Given the description of an element on the screen output the (x, y) to click on. 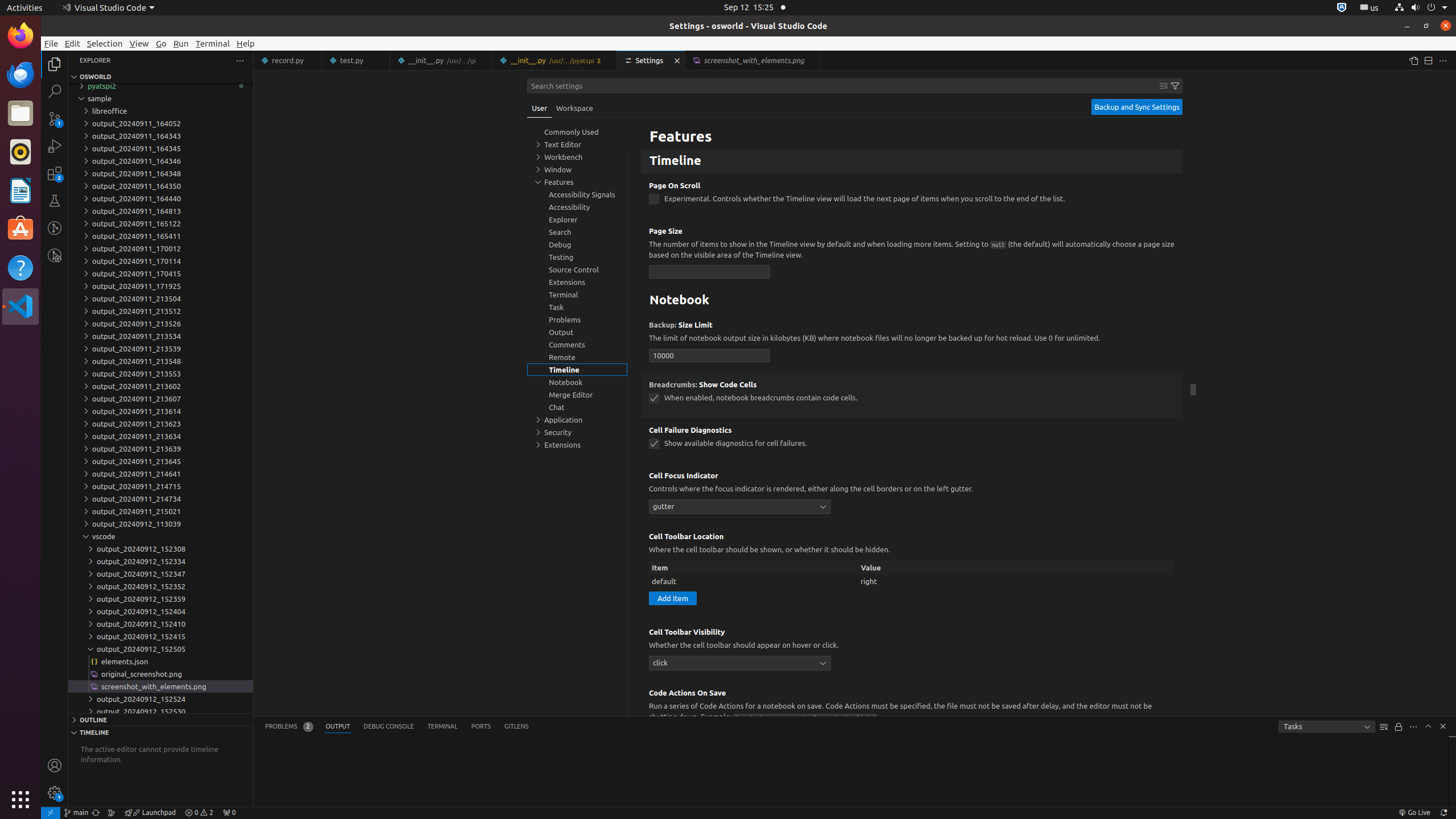
output_20240911_213602 Element type: tree-item (160, 385)
Problems (Ctrl+Shift+M) - Total 2 Problems Element type: page-tab (288, 726)
The property `default` is set to `right`. Element type: list-item (911, 580)
output_20240911_213639 Element type: tree-item (160, 448)
output_20240912_152347 Element type: tree-item (160, 573)
